Given the description of an element on the screen output the (x, y) to click on. 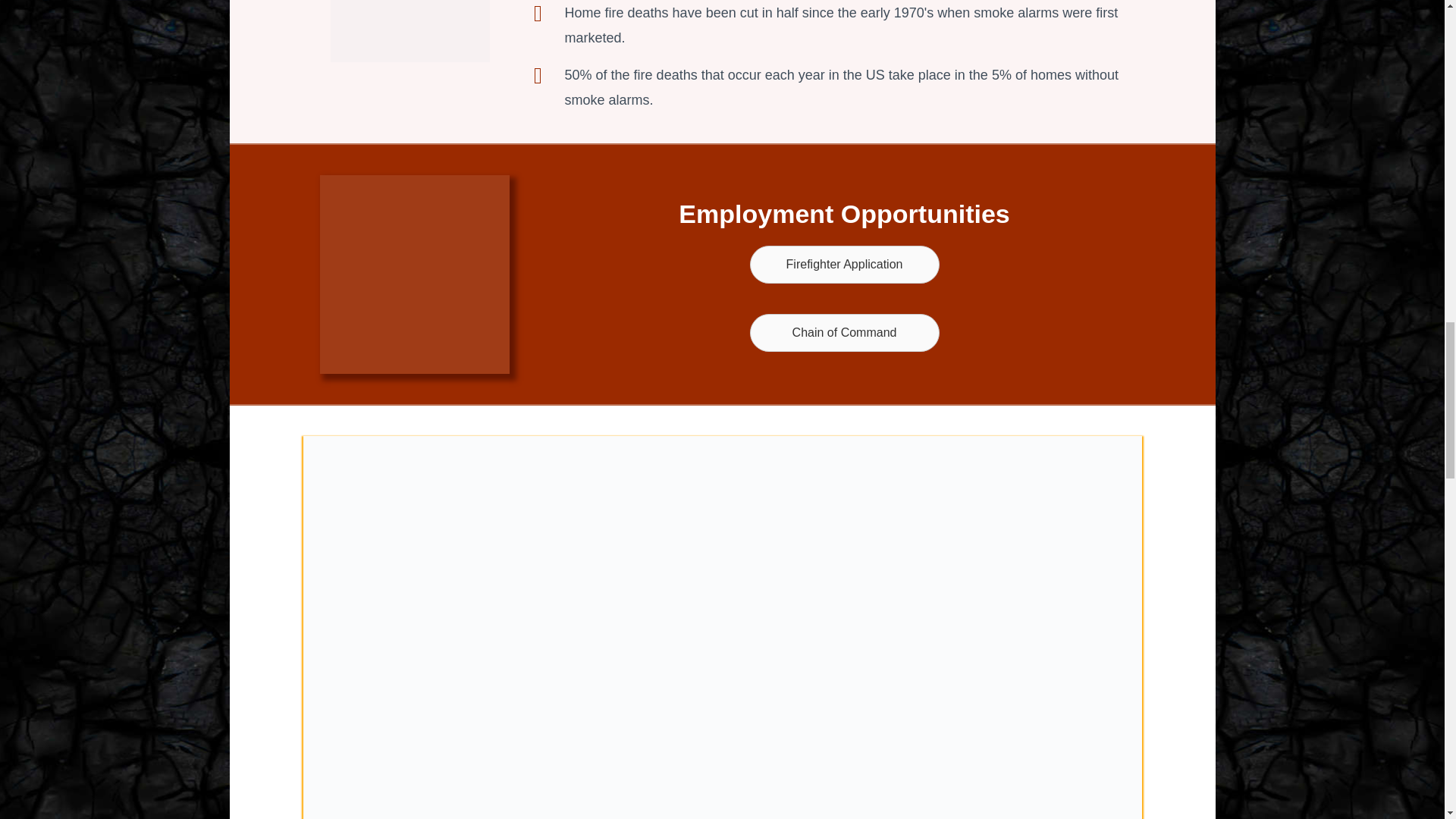
Chain of Command (844, 332)
Firefighter Application (844, 264)
YOUR LOCALFIRE VOLUNTEER (414, 274)
FIRE ALARM-trans2 (409, 31)
